Given the description of an element on the screen output the (x, y) to click on. 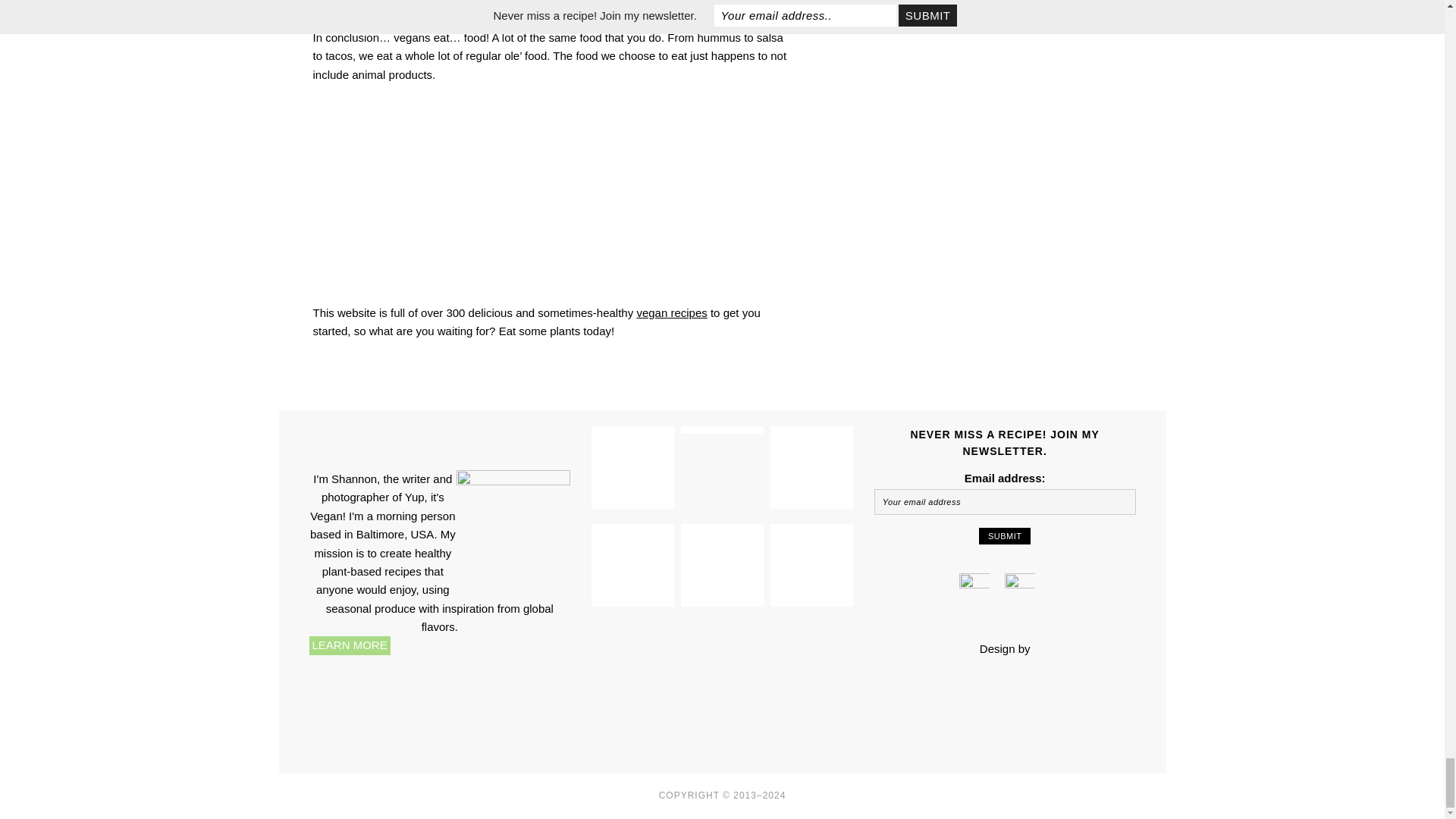
Submit (1004, 535)
